Given the description of an element on the screen output the (x, y) to click on. 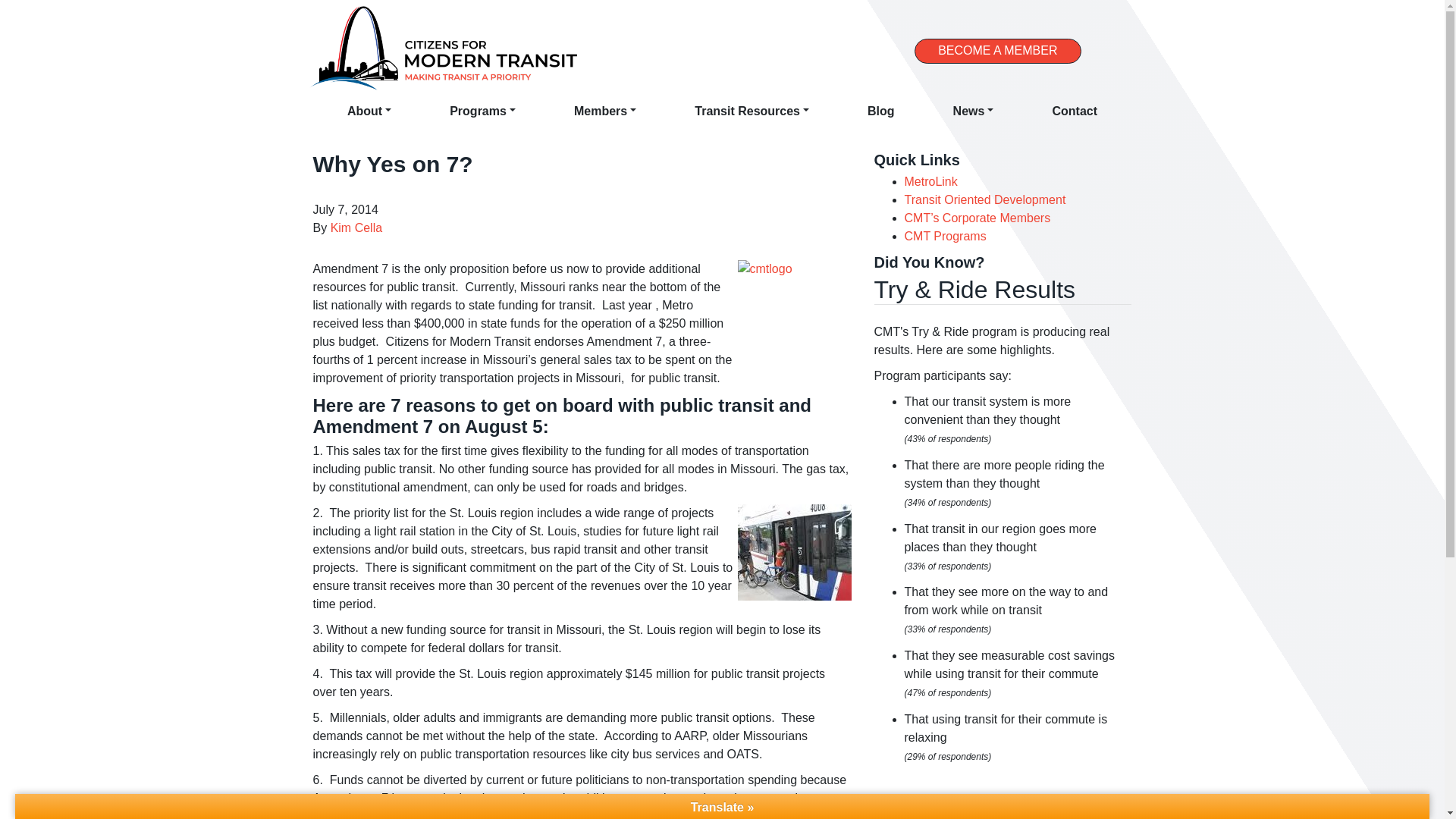
News (973, 111)
Blog (880, 111)
BECOME A MEMBER (997, 50)
Contact (1074, 111)
Members (605, 111)
Transit Resources (751, 111)
Citizens For Modern Transit (442, 48)
About (368, 111)
Kim Cella (355, 227)
Programs (482, 111)
